Given the description of an element on the screen output the (x, y) to click on. 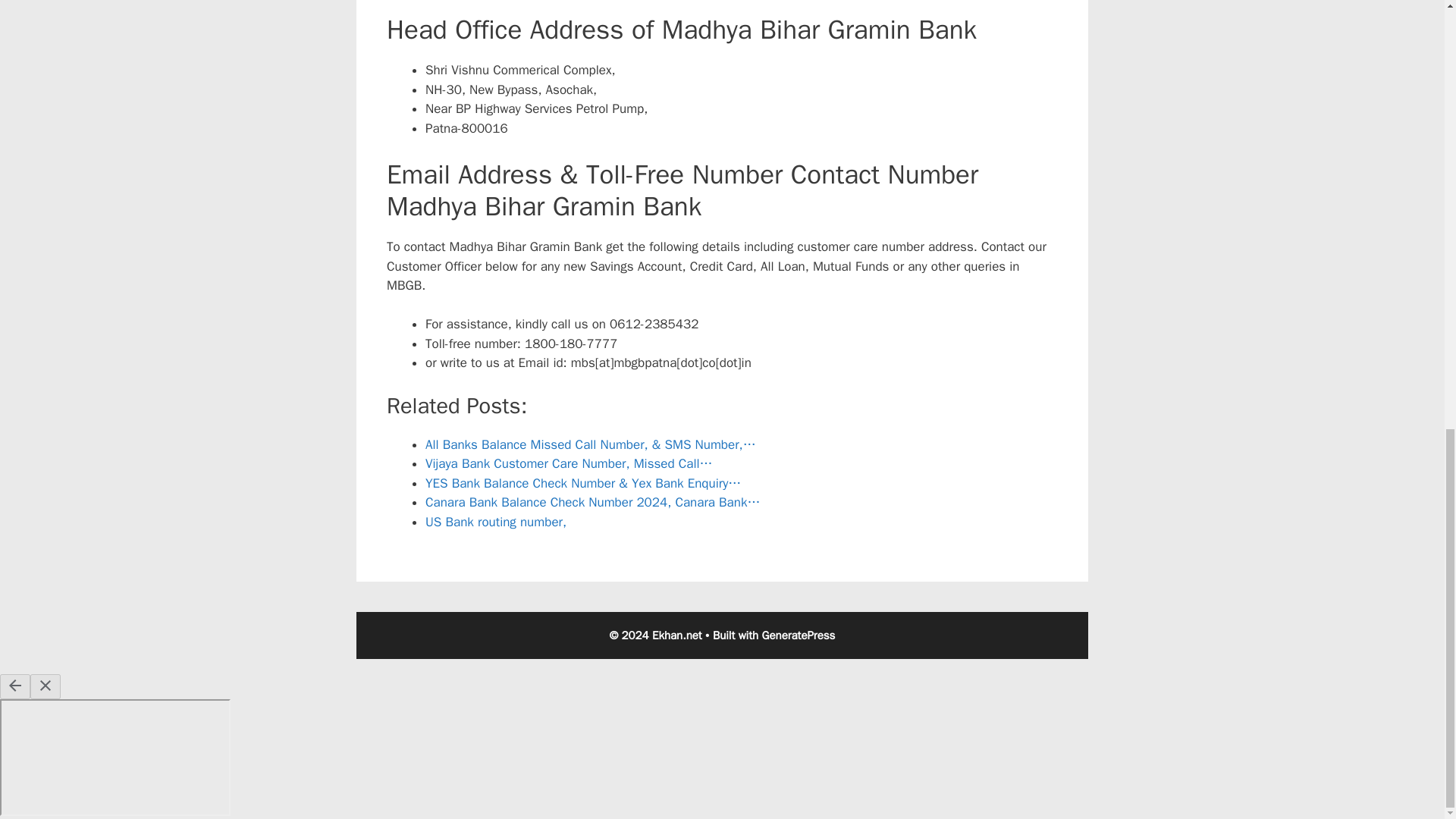
GeneratePress (798, 635)
US Bank routing number, (495, 521)
